Given the description of an element on the screen output the (x, y) to click on. 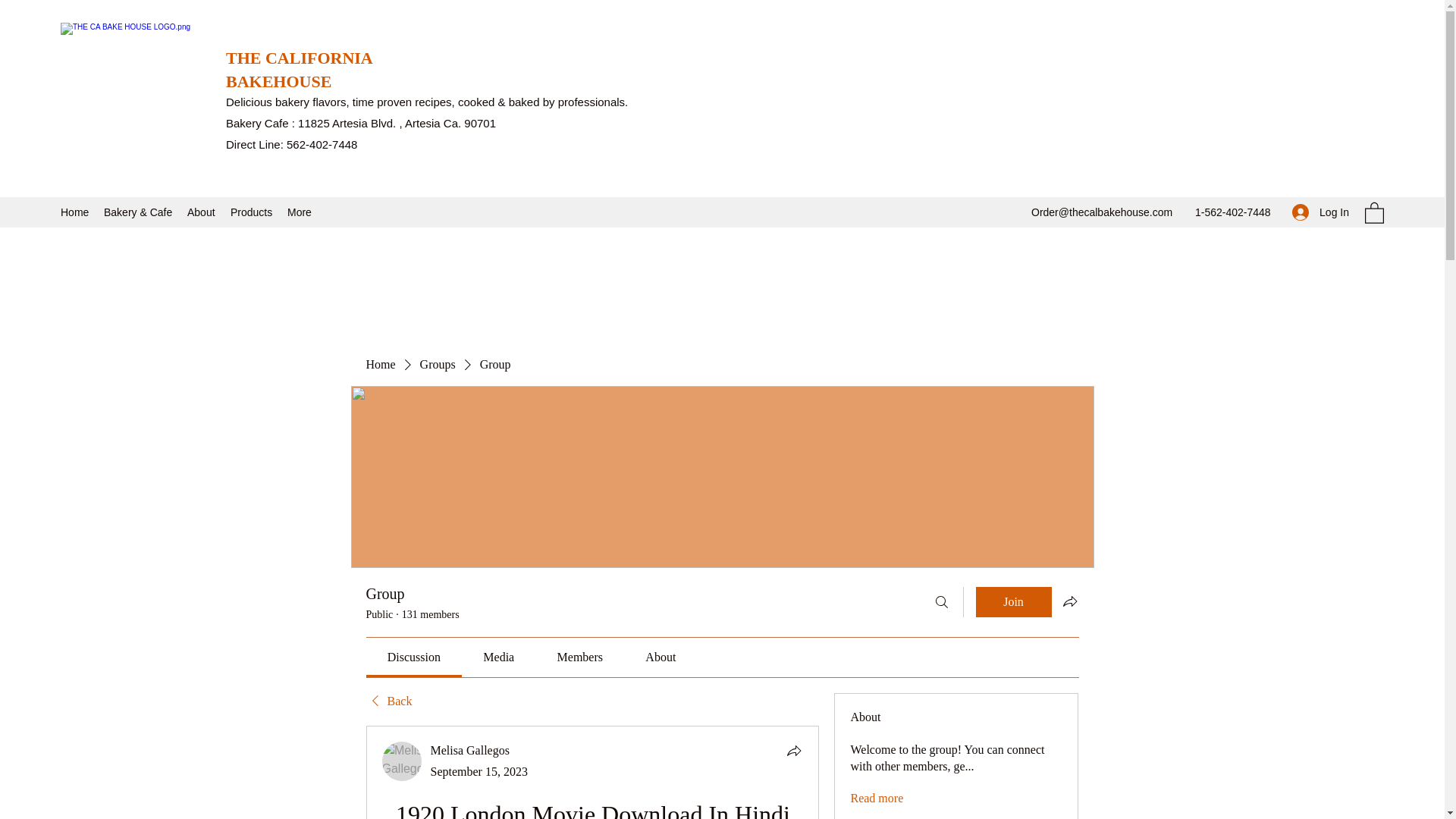
Groups (437, 364)
Melisa Gallegos (469, 749)
About (200, 211)
Read more (876, 798)
Back (388, 701)
September 15, 2023 (478, 771)
Products (250, 211)
Home (74, 211)
Melisa Gallegos (401, 761)
Join (1013, 602)
